Given the description of an element on the screen output the (x, y) to click on. 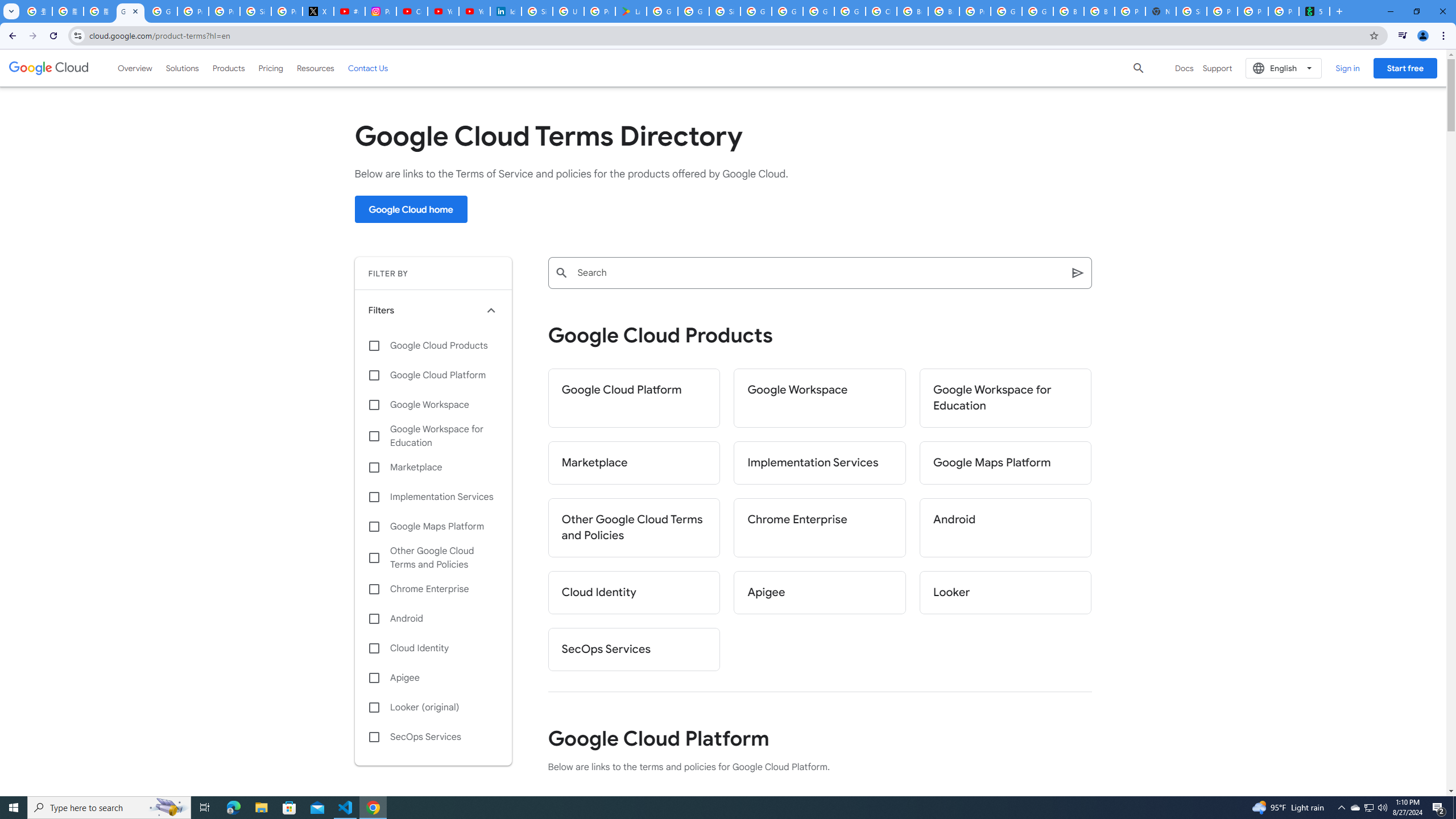
Google Maps Platform (1005, 462)
Resources (314, 67)
Implementation Services (432, 496)
Google Workspace for Education (432, 435)
Google Cloud (48, 67)
Google Workspace (819, 397)
Apigee (432, 677)
Google Cloud Products (432, 345)
